Given the description of an element on the screen output the (x, y) to click on. 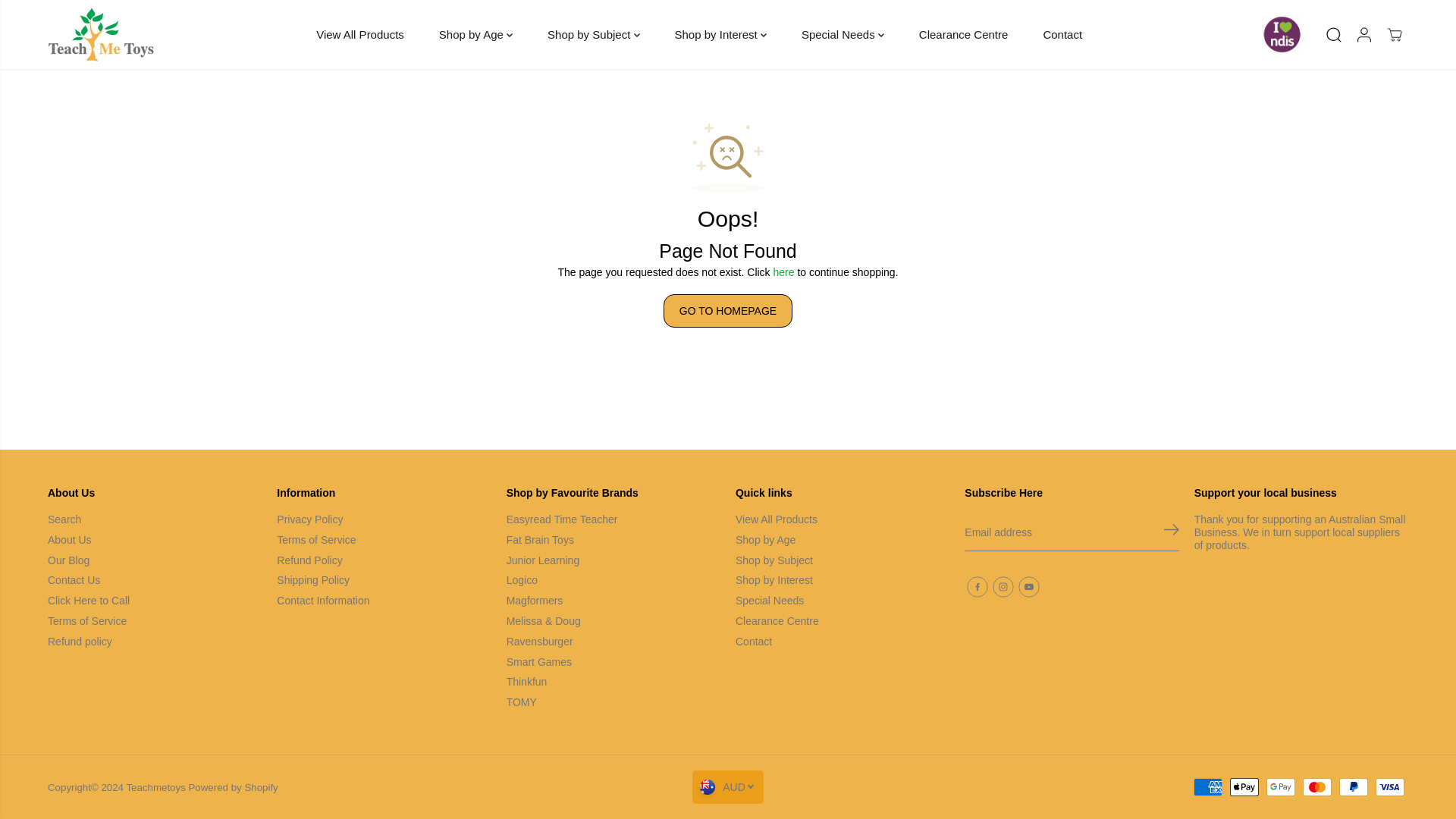
View All Products (359, 34)
PayPal (1353, 787)
Cart (1393, 34)
Contact (1062, 34)
Google Pay (1280, 787)
American Express (1208, 787)
Clearance Centre (962, 34)
Search (1334, 34)
Mastercard (1317, 787)
Visa (1390, 787)
